Given the description of an element on the screen output the (x, y) to click on. 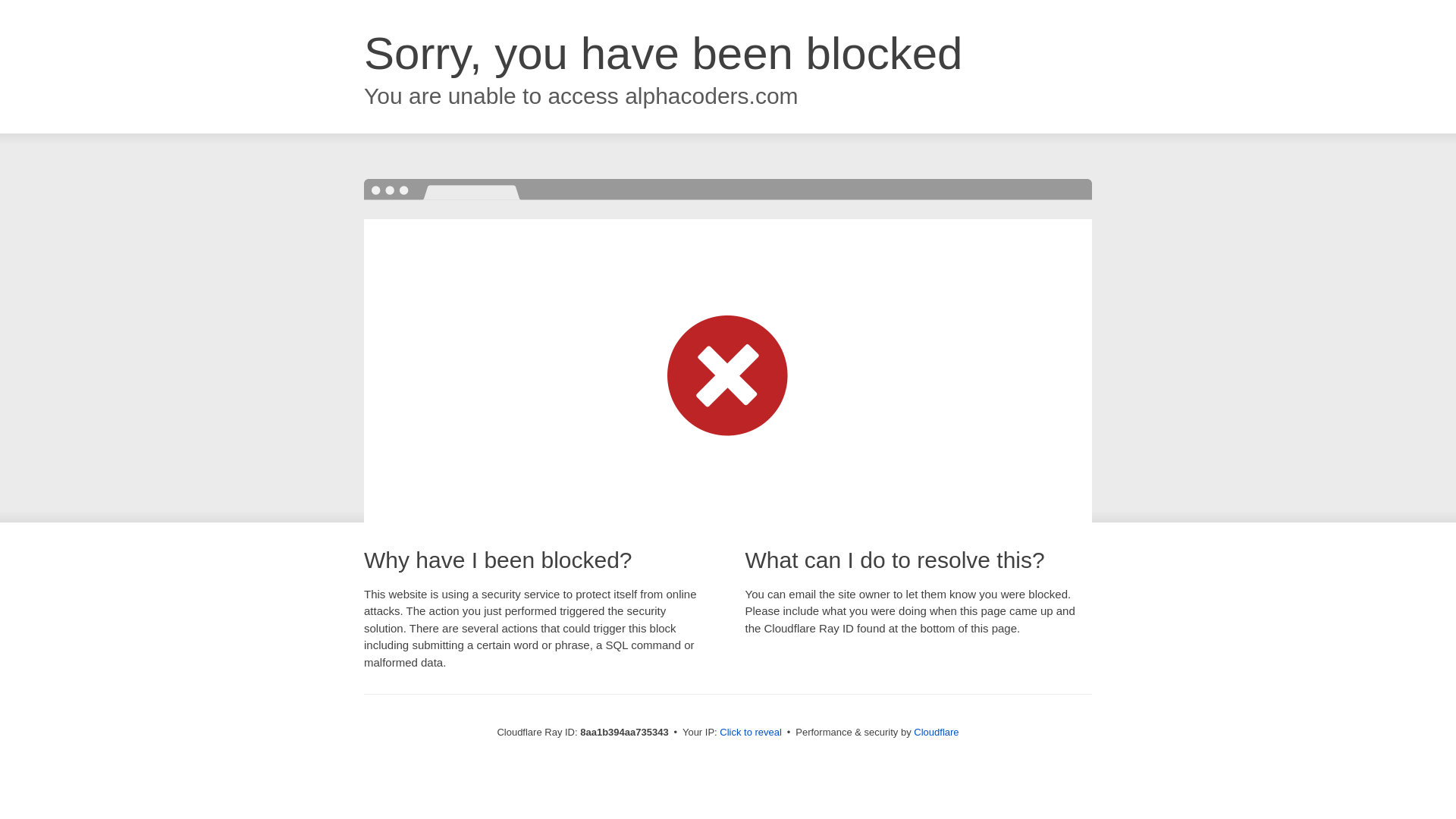
Cloudflare (936, 731)
Click to reveal (750, 732)
